Given the description of an element on the screen output the (x, y) to click on. 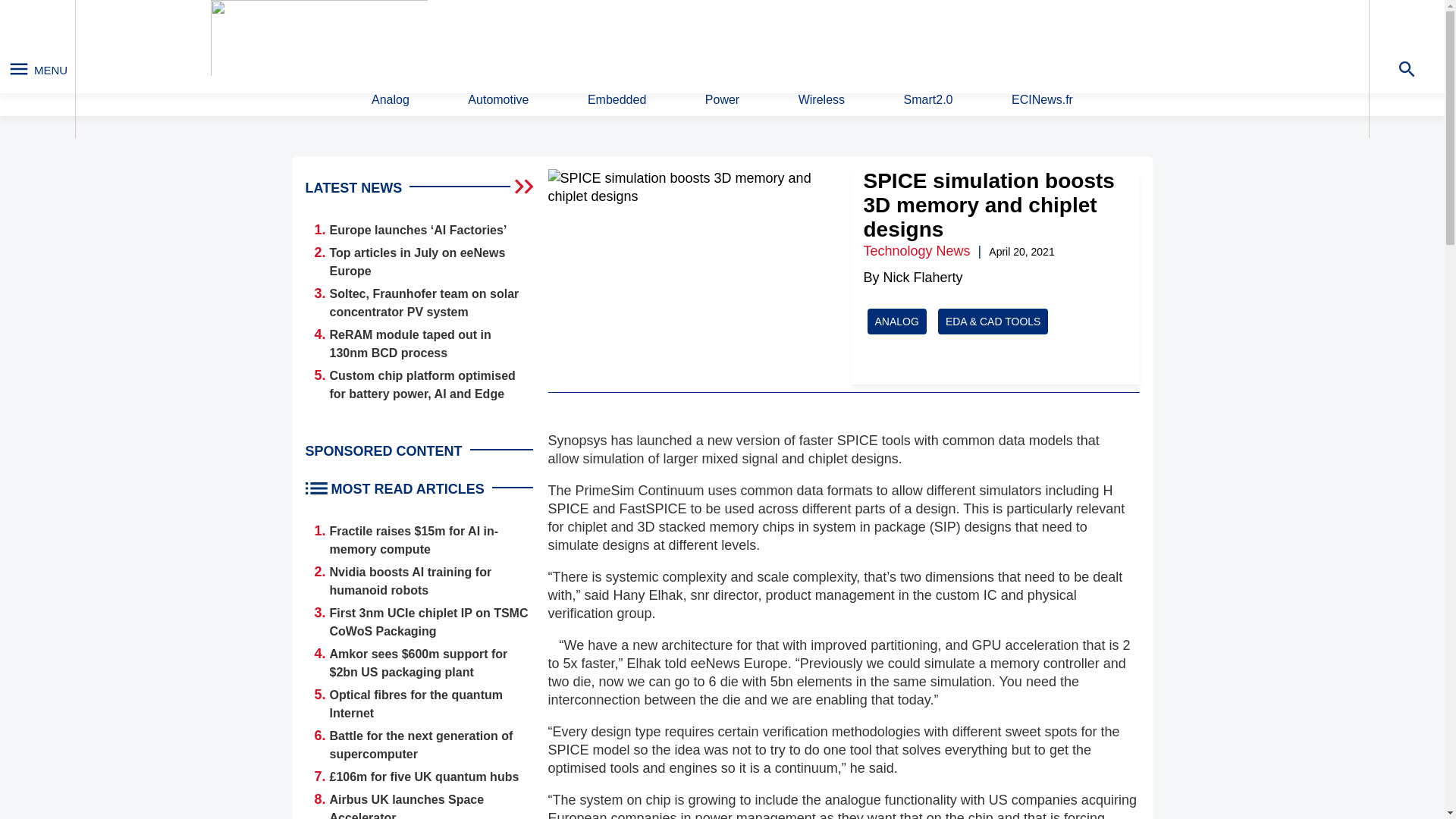
Wireless (820, 99)
Embedded (617, 99)
Search (949, 40)
Analog (390, 99)
Power (721, 99)
Smart2.0 (928, 99)
ECINews.fr (1042, 99)
Automotive (497, 99)
